Given the description of an element on the screen output the (x, y) to click on. 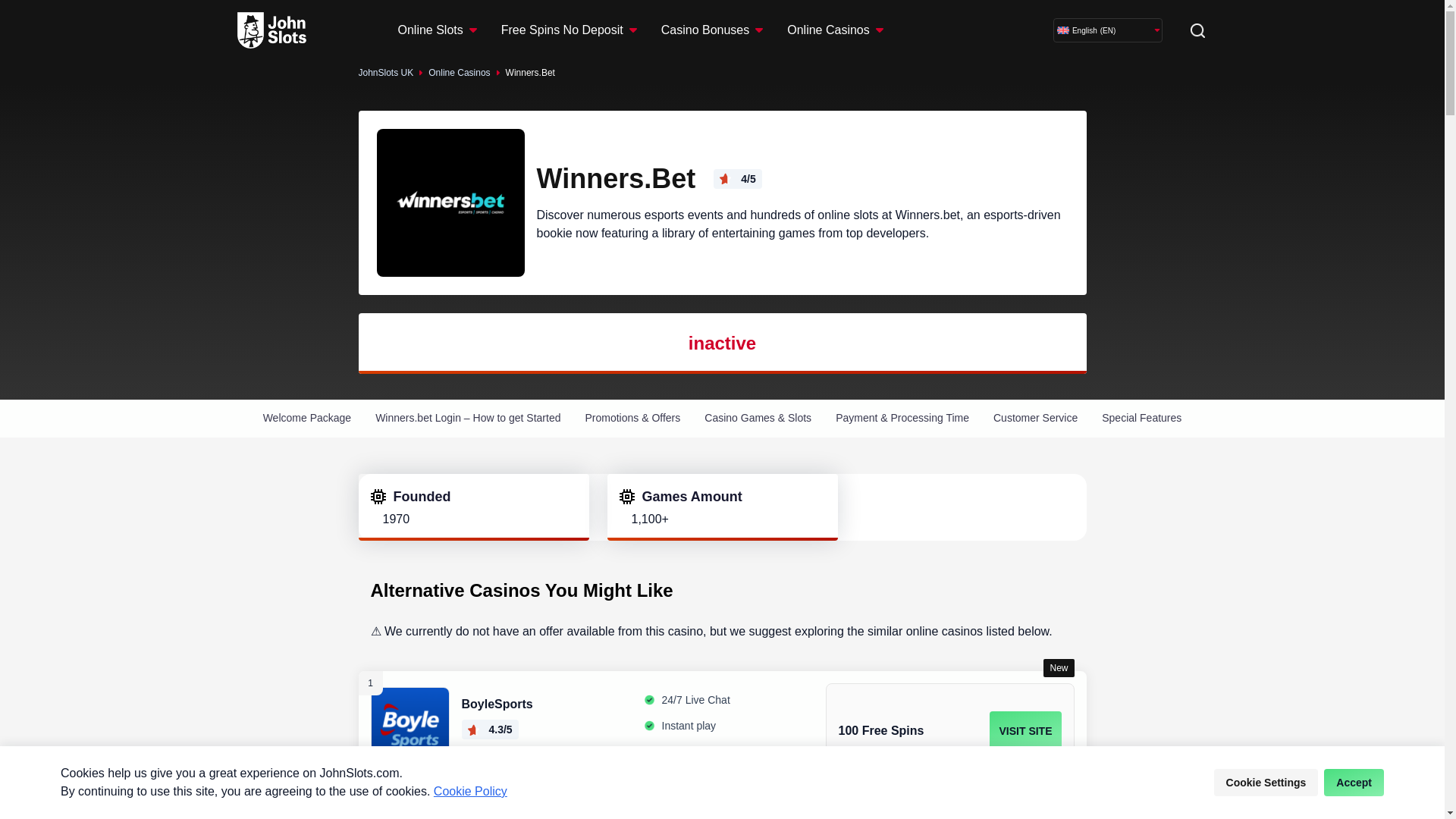
Switch to English (1062, 30)
Free Spins No Deposit (561, 30)
Online Slots (430, 30)
informationBox (377, 496)
Winners bet logo (449, 202)
Online Slots (436, 30)
Selling Point-3 (649, 751)
Boylesports logo (408, 726)
Online Casinos (828, 30)
Casino Bonuses (705, 30)
